Given the description of an element on the screen output the (x, y) to click on. 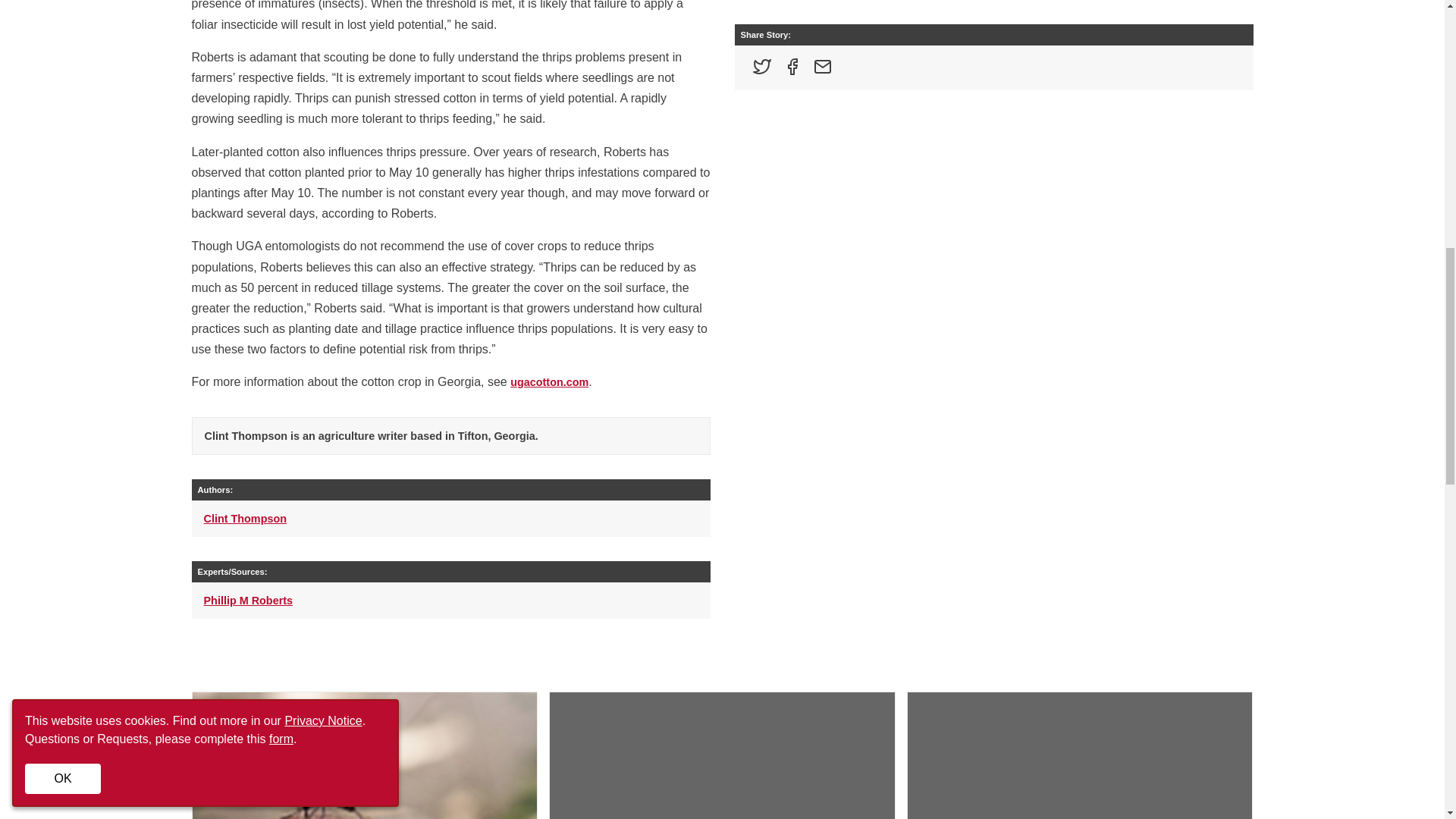
Phillip M Roberts (247, 600)
Clint Thompson (244, 518)
ugacotton.com (549, 381)
